Given the description of an element on the screen output the (x, y) to click on. 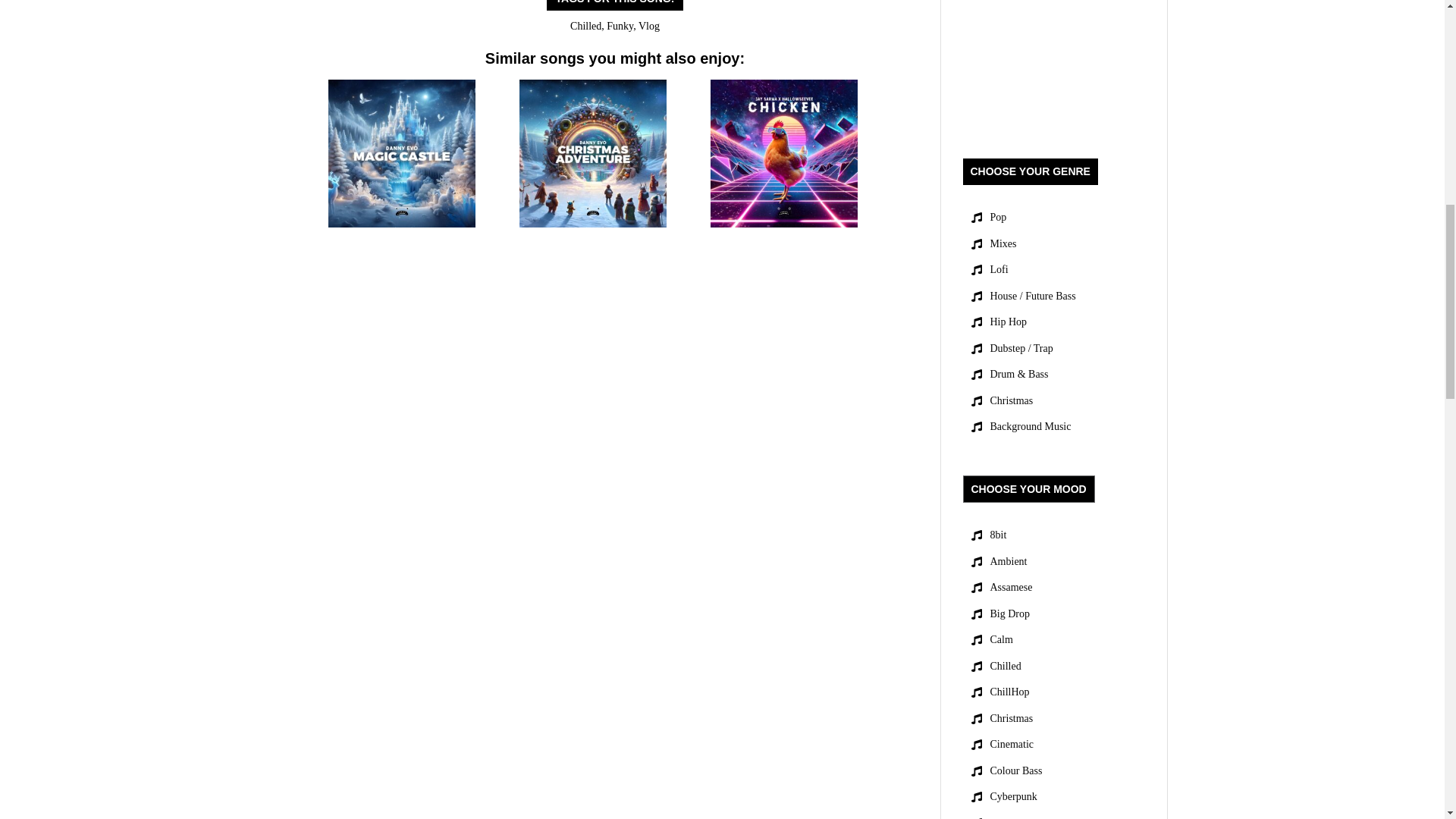
Mixes (1003, 244)
Hip Hop (1008, 322)
Chilled (585, 25)
Responsive Video (1053, 63)
Funky (620, 25)
Christmas (1011, 401)
Lofi (999, 270)
Vlog (649, 25)
Funky (620, 25)
Vlog (649, 25)
